Given the description of an element on the screen output the (x, y) to click on. 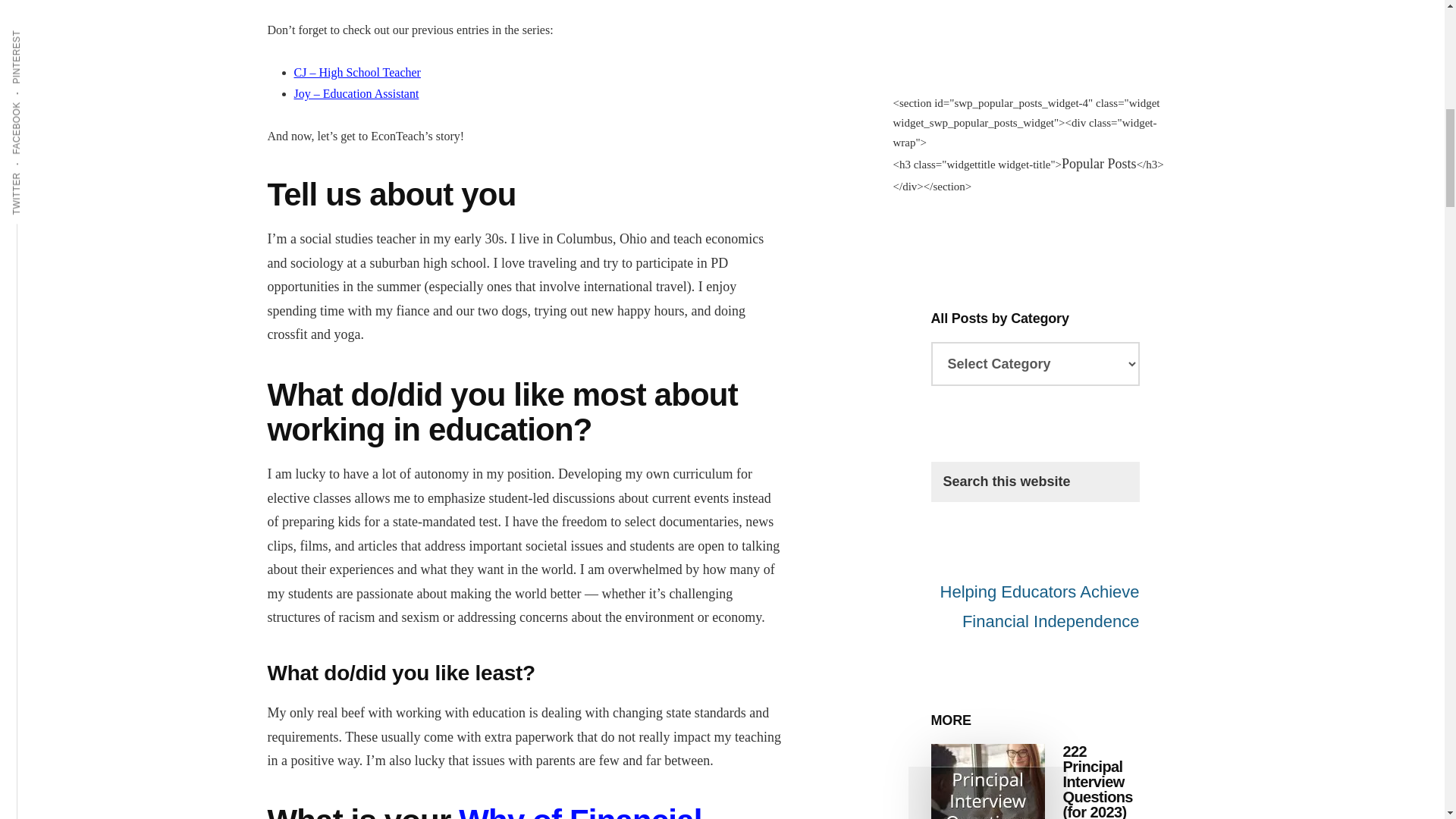
Why of Financial Independence (483, 810)
